Given the description of an element on the screen output the (x, y) to click on. 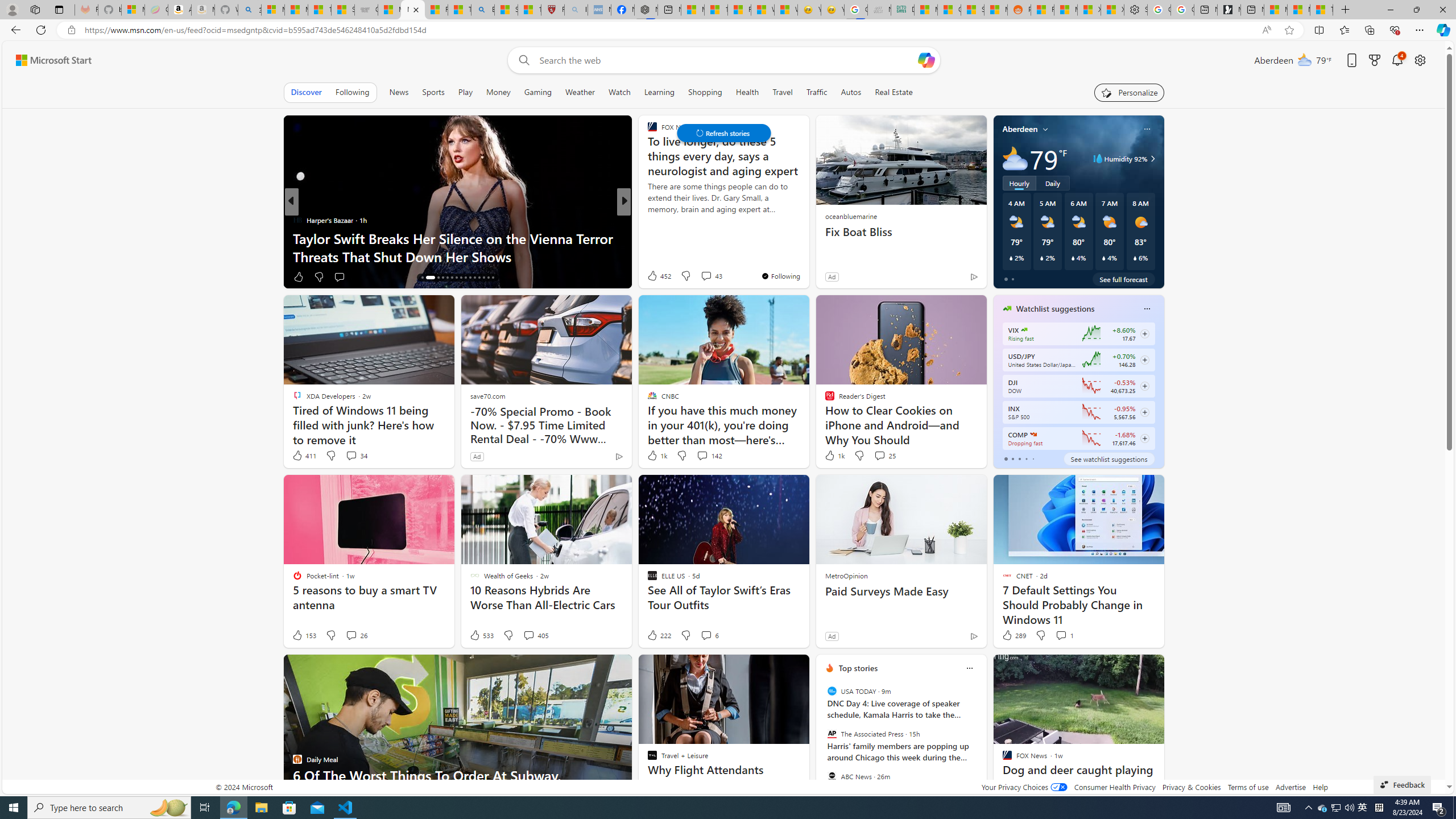
Fix Boat Bliss (900, 232)
Sports (432, 92)
Health (746, 92)
Mostly cloudy (1014, 158)
8 Like (651, 276)
View comments 4 Comment (703, 276)
View comments 3 Comment (697, 276)
